Given the description of an element on the screen output the (x, y) to click on. 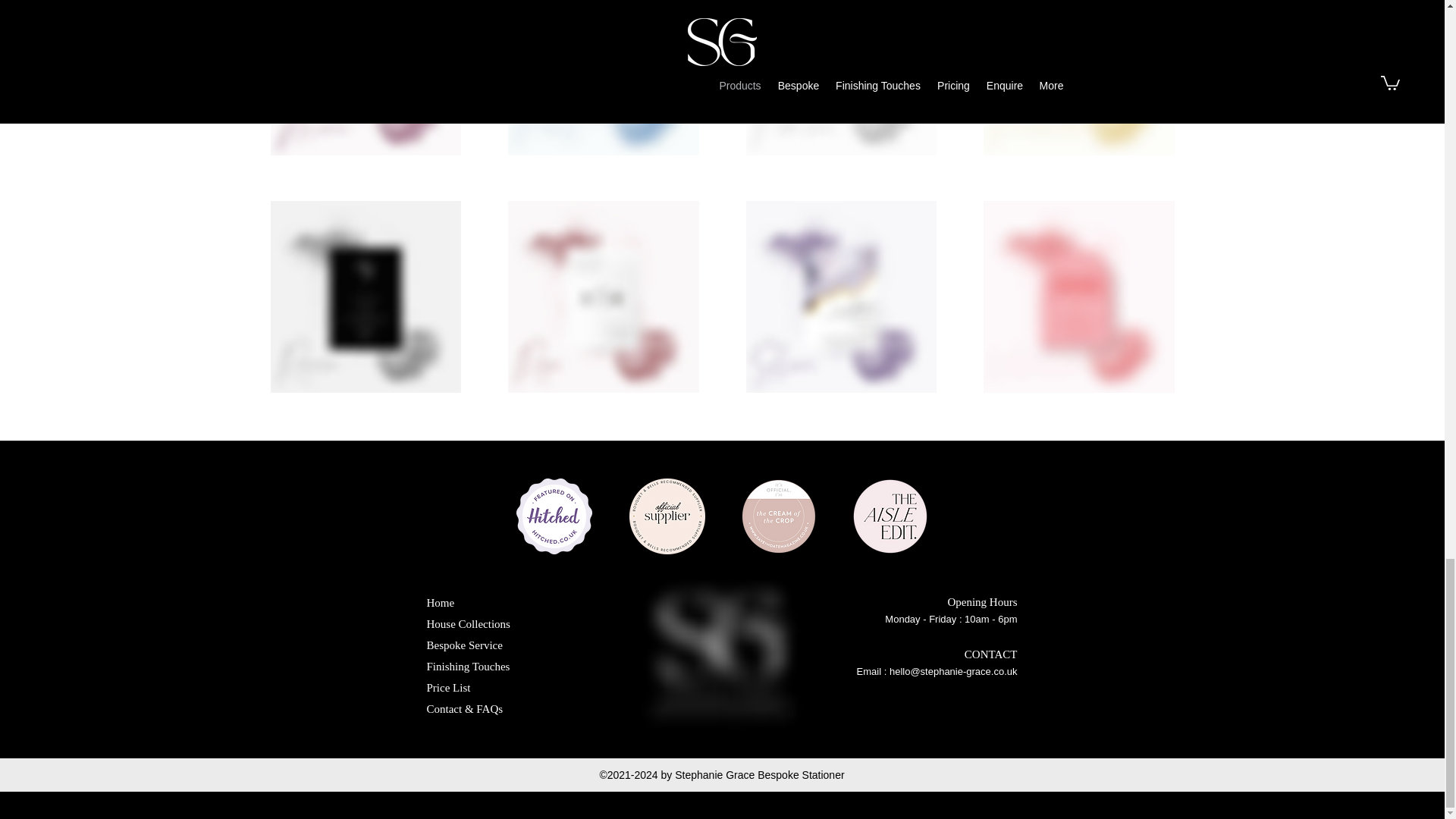
Home (440, 602)
